Given the description of an element on the screen output the (x, y) to click on. 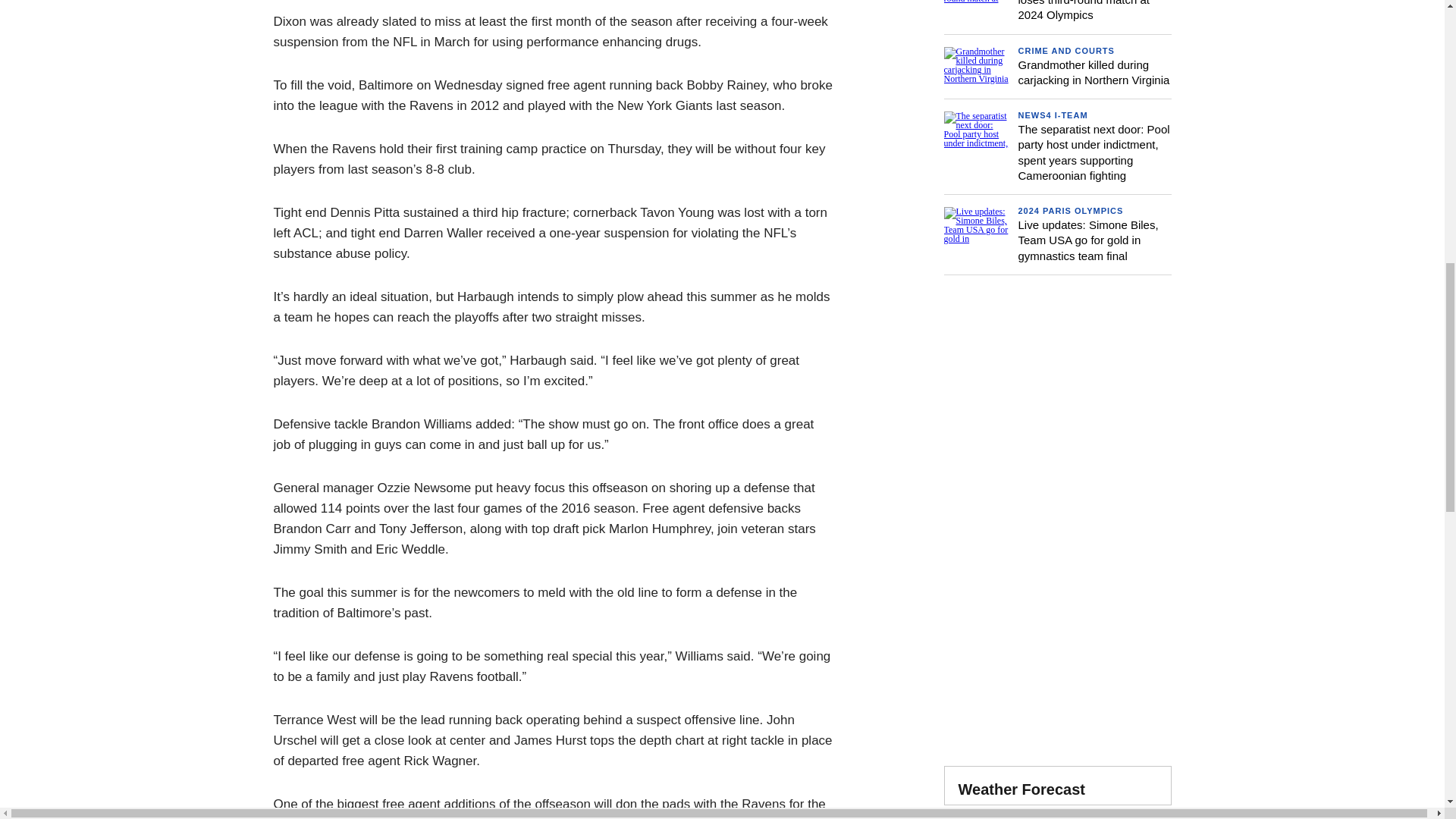
CRIME AND COURTS (1065, 49)
Grandmother killed during carjacking in Northern Virginia (1093, 71)
